Given the description of an element on the screen output the (x, y) to click on. 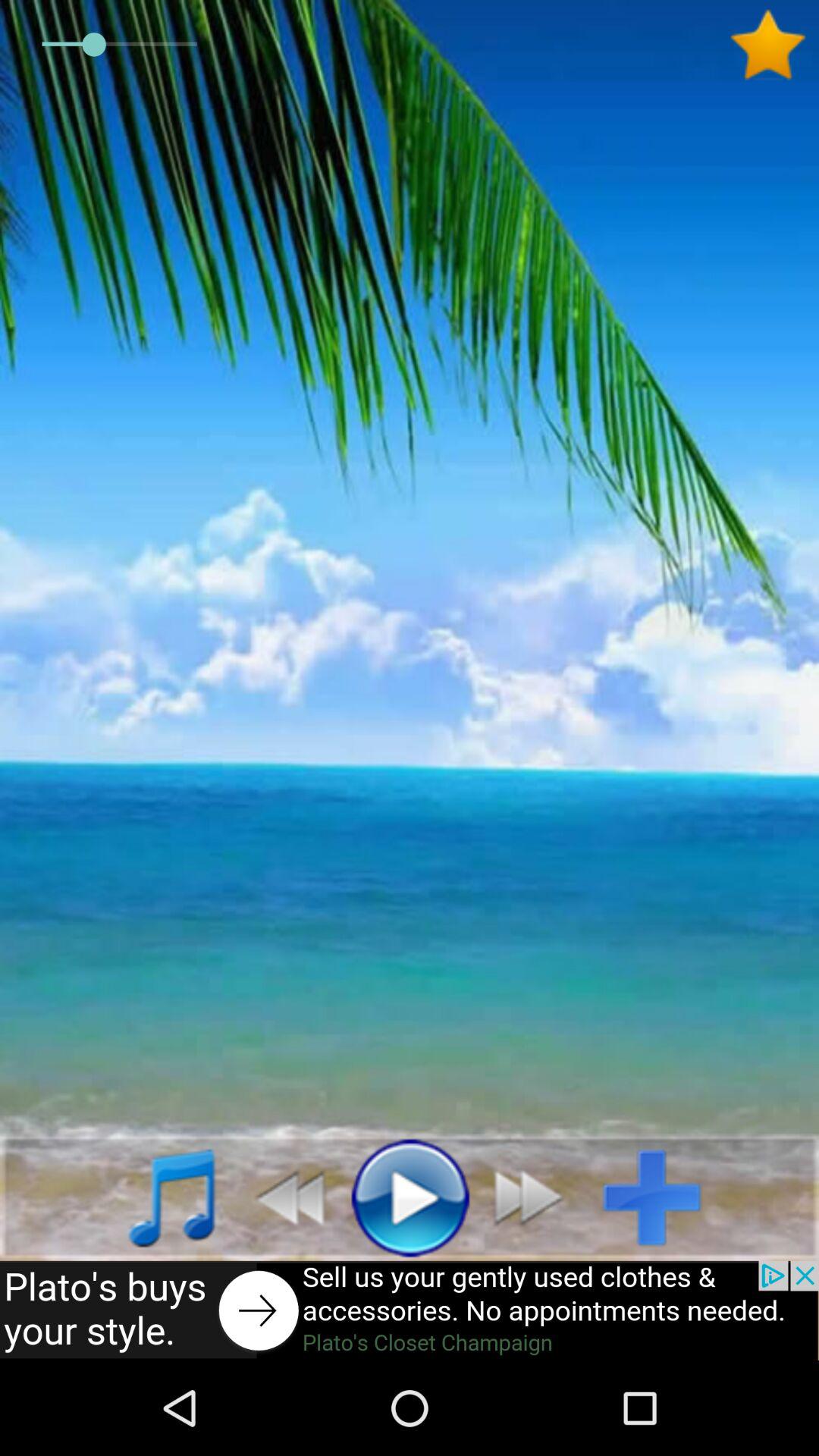
rate star (774, 44)
